Given the description of an element on the screen output the (x, y) to click on. 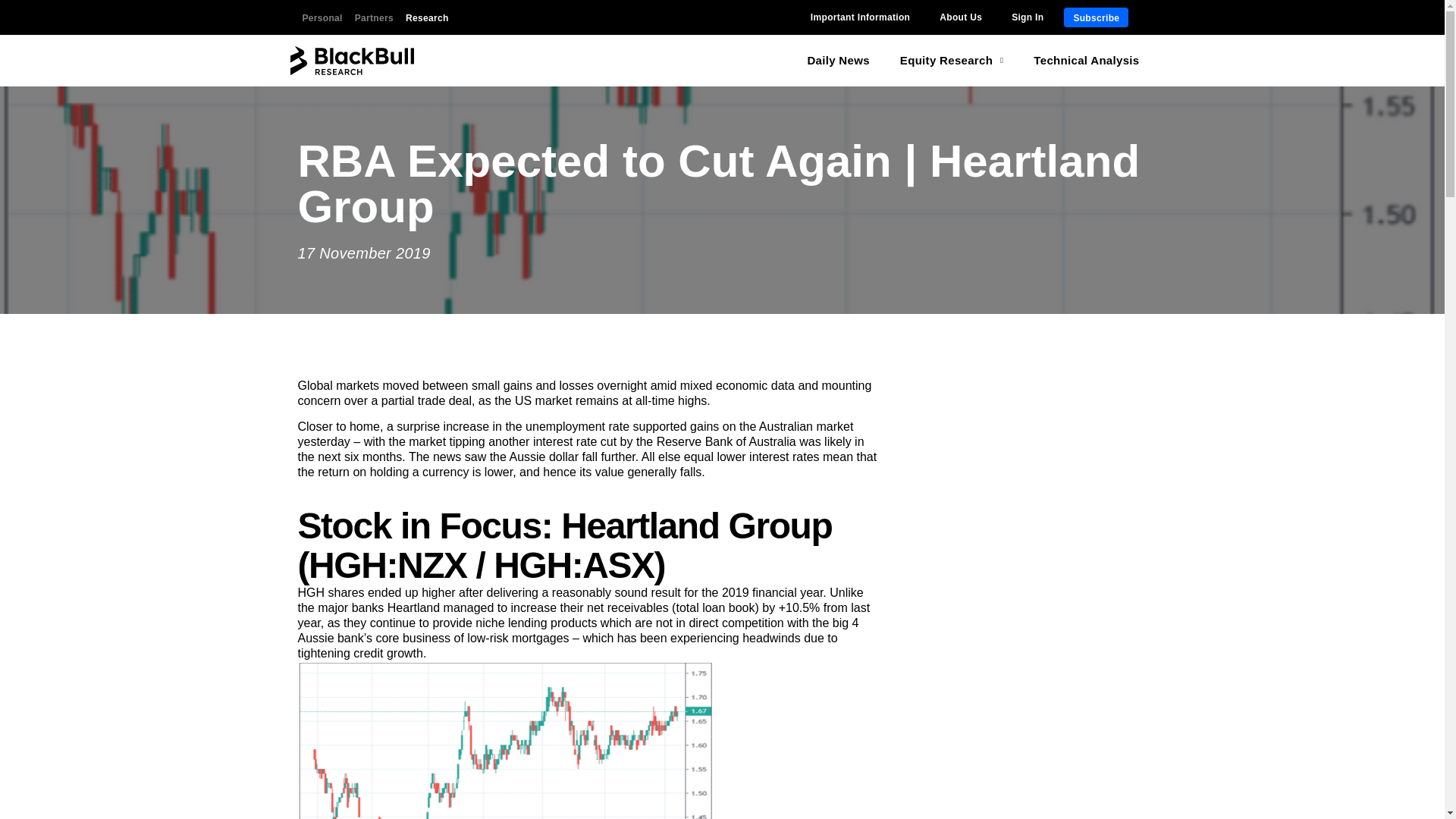
Important Information (860, 16)
Partners (373, 17)
Sign In (1027, 16)
Personal (321, 17)
Technical Analysis (1085, 60)
About Us (960, 16)
Research (426, 17)
Subscribe (1096, 17)
Equity Research (952, 60)
Daily News (837, 60)
